Given the description of an element on the screen output the (x, y) to click on. 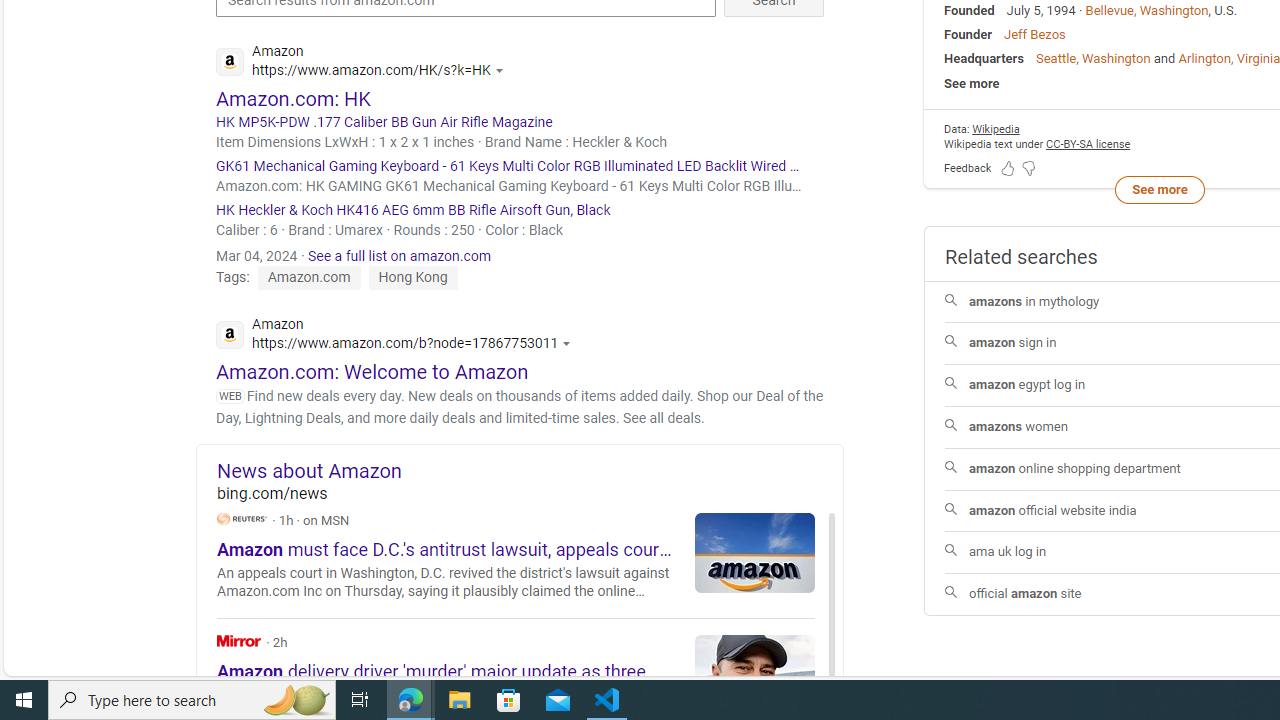
News about Amazon (530, 470)
See a full list on amazon.com (399, 255)
Amazon.com: HK (293, 97)
Headquarters (984, 58)
bing.com/news (530, 492)
Seattle, Washington (1092, 58)
CC-BY-SA license (1088, 144)
Founder (968, 34)
